Given the description of an element on the screen output the (x, y) to click on. 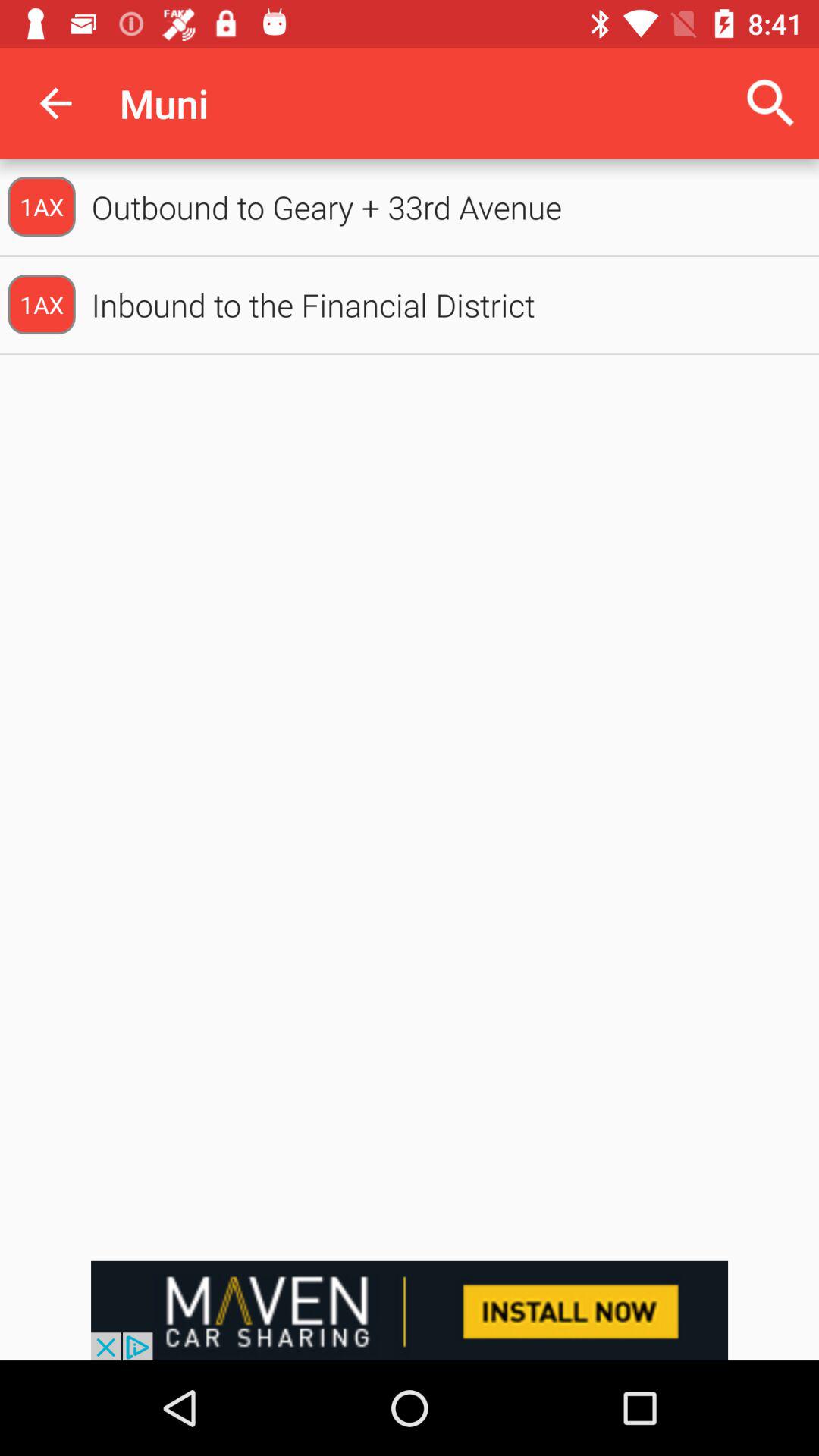
advertisement (409, 1310)
